Given the description of an element on the screen output the (x, y) to click on. 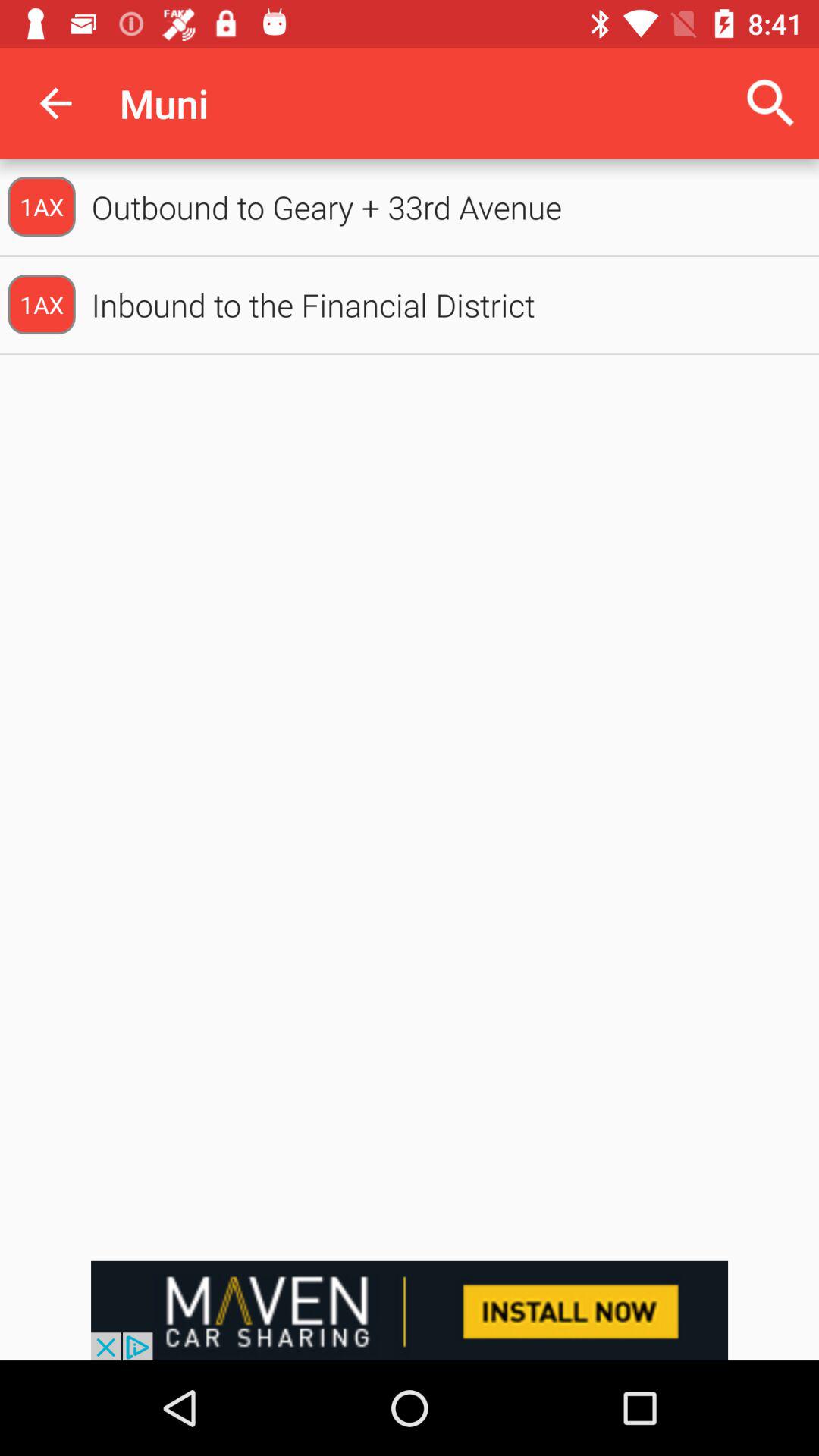
advertisement (409, 1310)
